Given the description of an element on the screen output the (x, y) to click on. 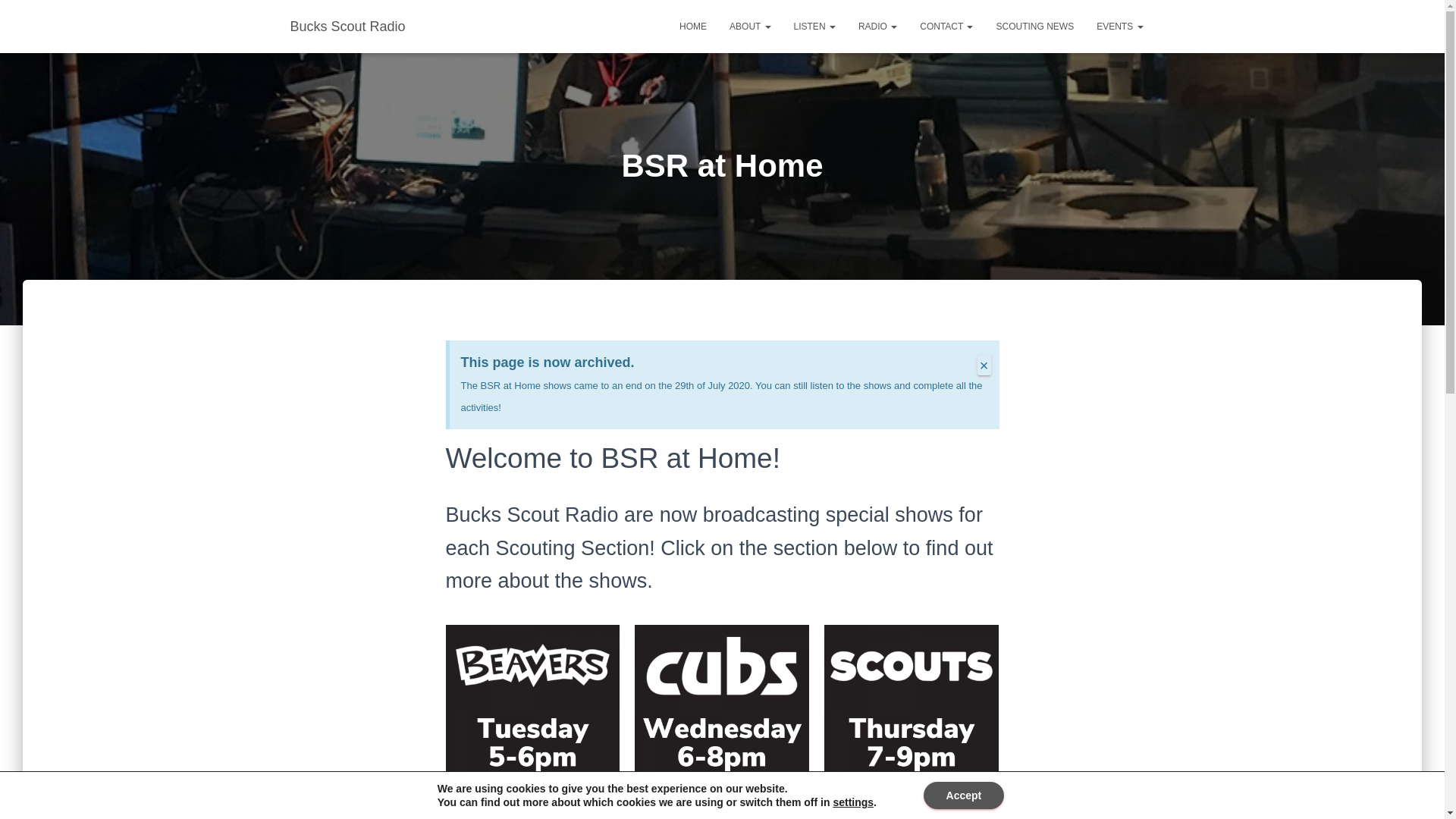
Bucks Scout Radio (347, 26)
Radio (877, 26)
About (749, 26)
SCOUTING NEWS (1034, 26)
EVENTS (1119, 26)
HOME (692, 26)
CONTACT (946, 26)
ABOUT (749, 26)
Home (692, 26)
LISTEN (815, 26)
